Given the description of an element on the screen output the (x, y) to click on. 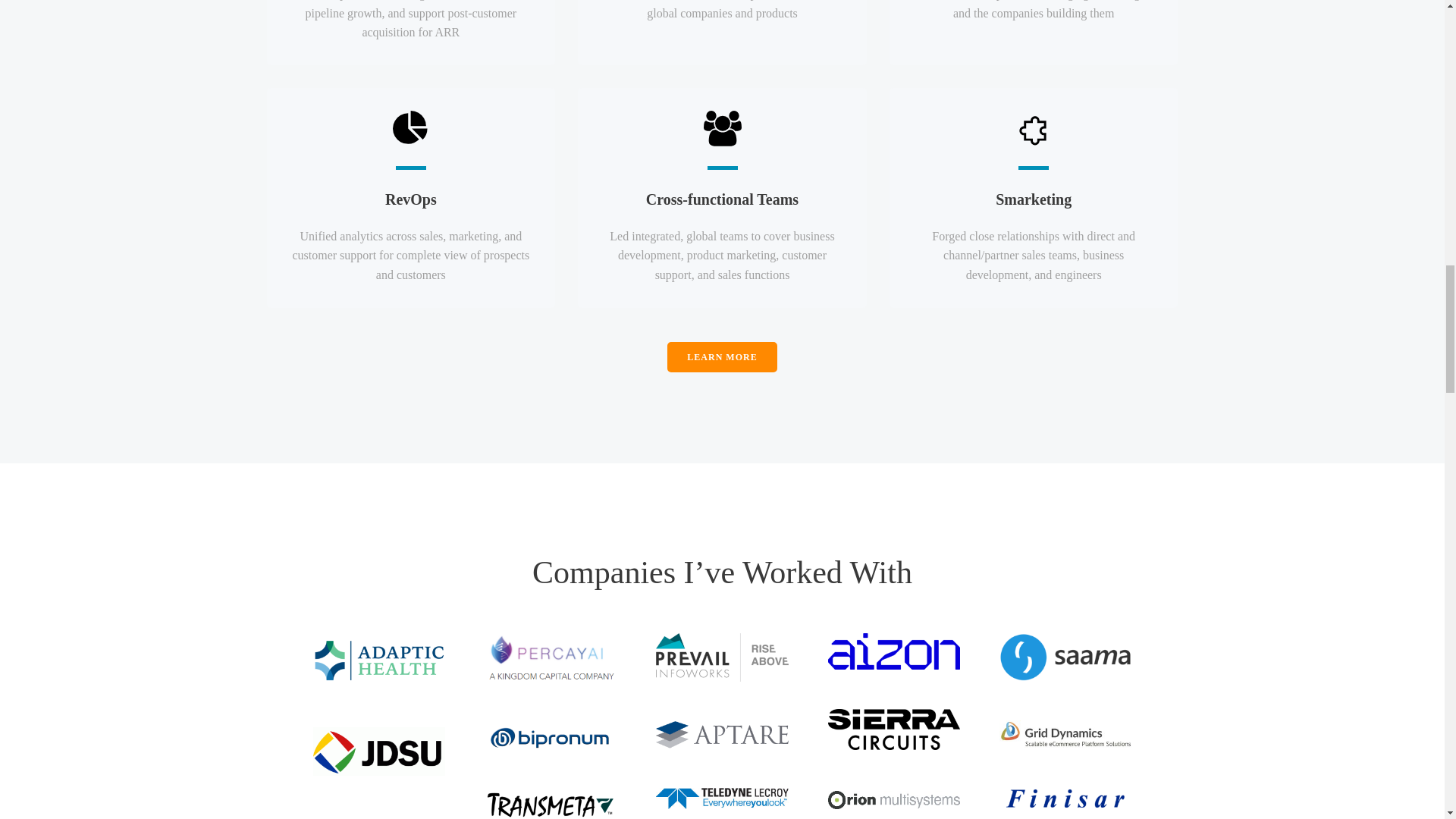
LEARN MORE (721, 356)
